Given the description of an element on the screen output the (x, y) to click on. 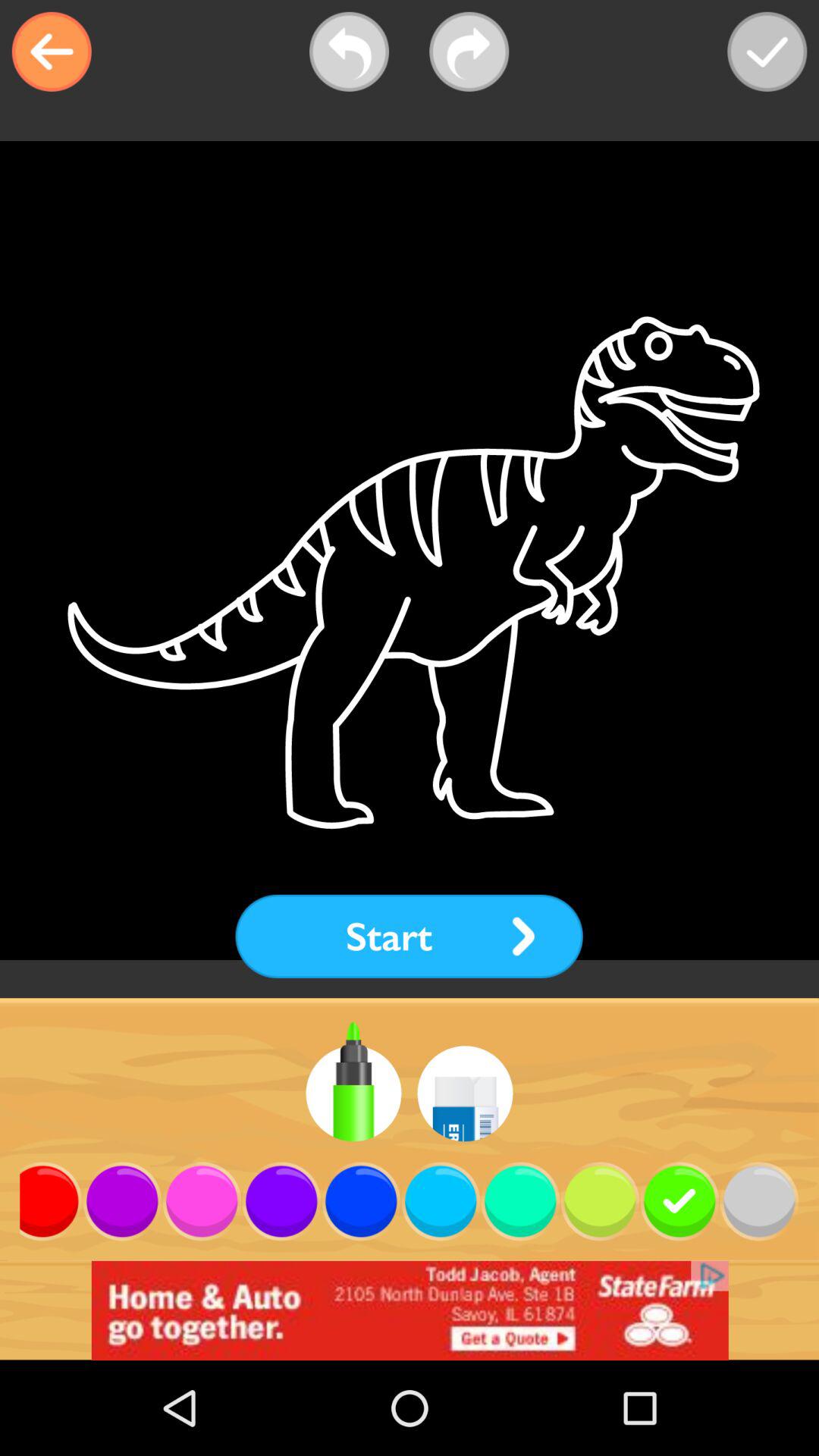
finish picture (767, 51)
